Given the description of an element on the screen output the (x, y) to click on. 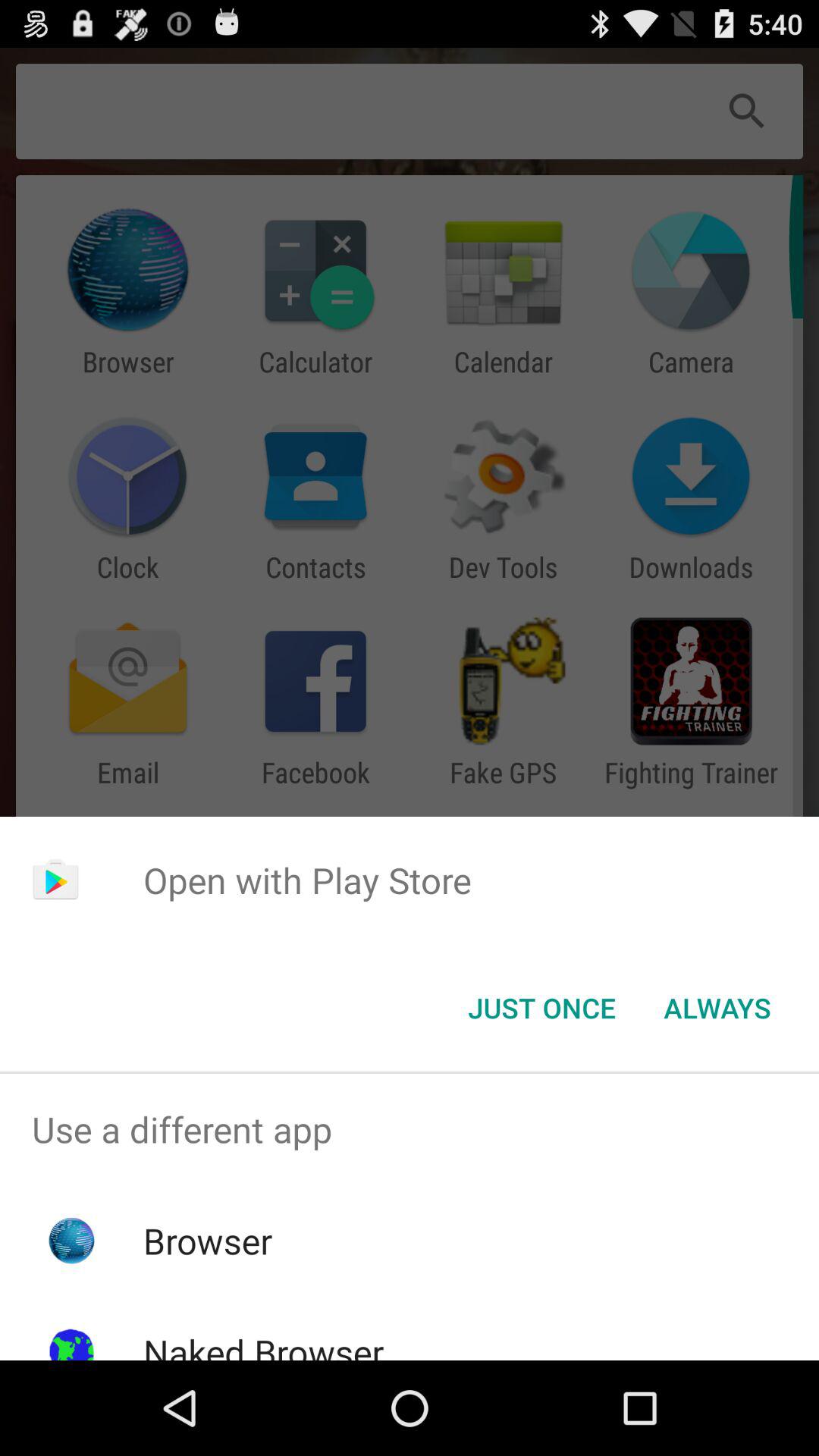
scroll until the just once icon (541, 1007)
